Given the description of an element on the screen output the (x, y) to click on. 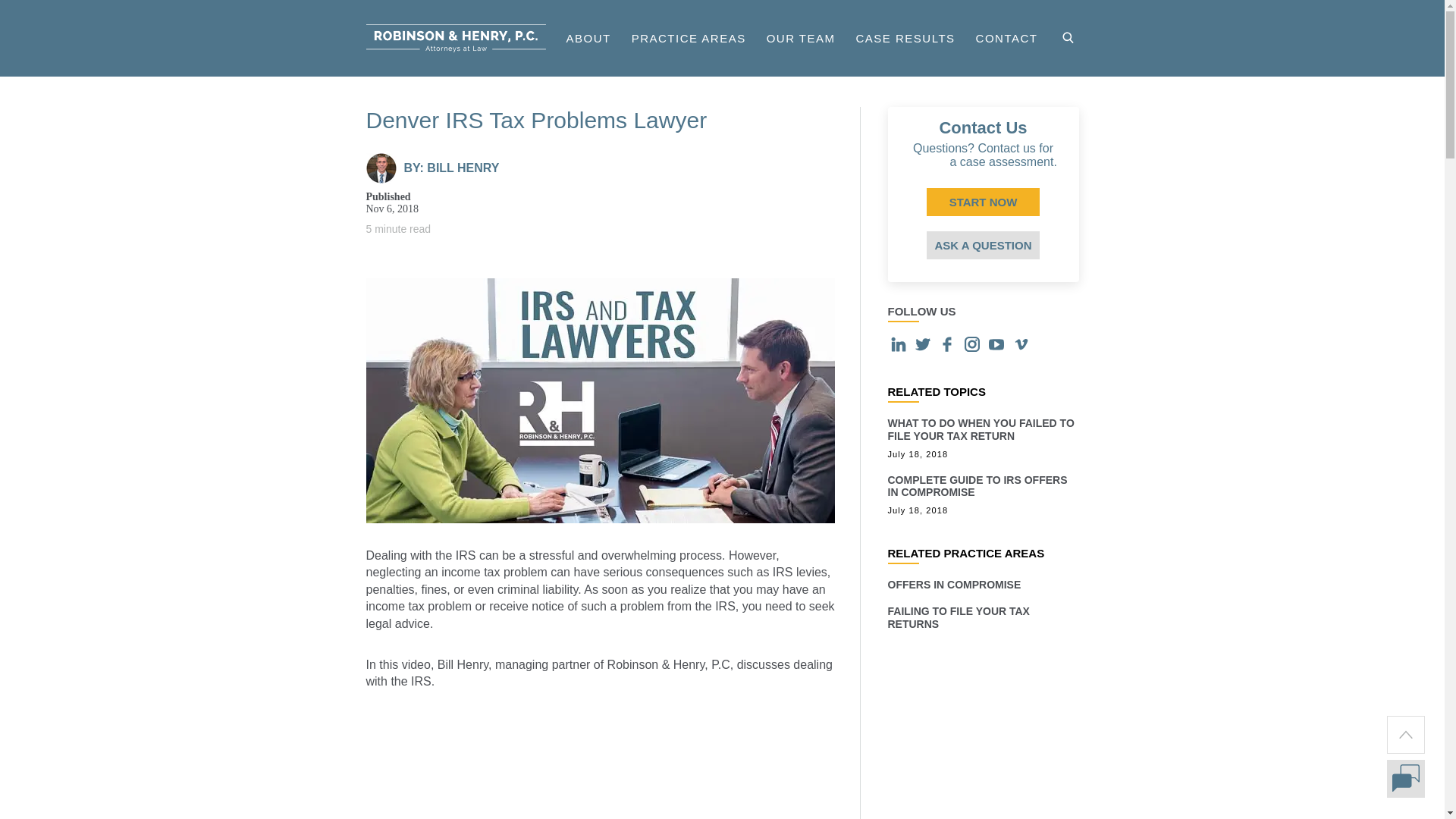
FAILING TO FILE YOUR TAX RETURNS (957, 617)
BY: BILL HENRY (451, 168)
ABOUT (588, 38)
CASE RESULTS (905, 38)
OFFERS IN COMPROMISE (953, 584)
WHAT TO DO WHEN YOU FAILED TO FILE YOUR TAX RETURN (980, 429)
START NOW (982, 202)
OUR TEAM (801, 38)
COMPLETE GUIDE TO IRS OFFERS IN COMPROMISE (976, 486)
ASK A QUESTION (982, 244)
